Given the description of an element on the screen output the (x, y) to click on. 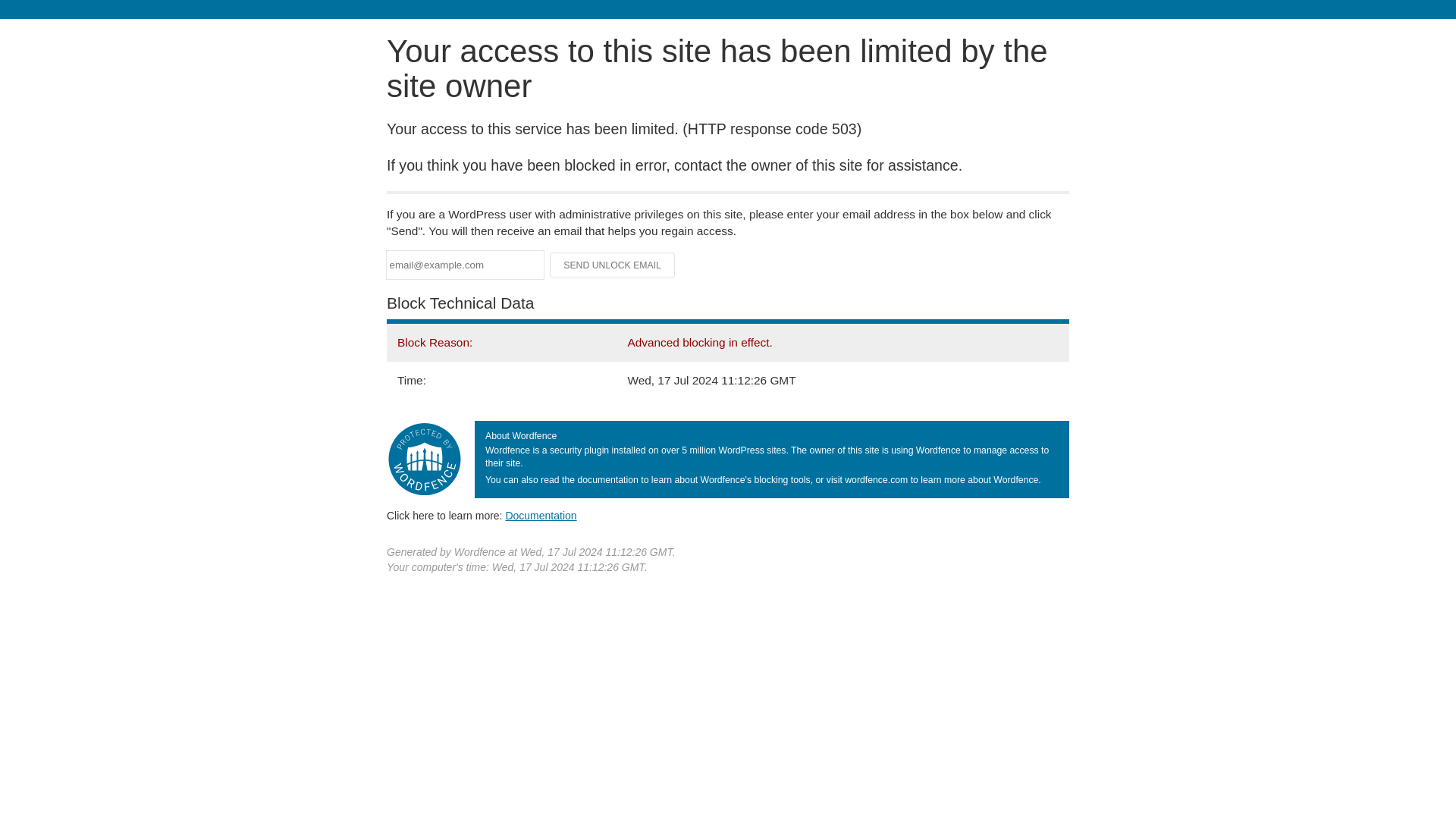
Send Unlock Email (612, 265)
Documentation (540, 515)
Send Unlock Email (612, 265)
